Given the description of an element on the screen output the (x, y) to click on. 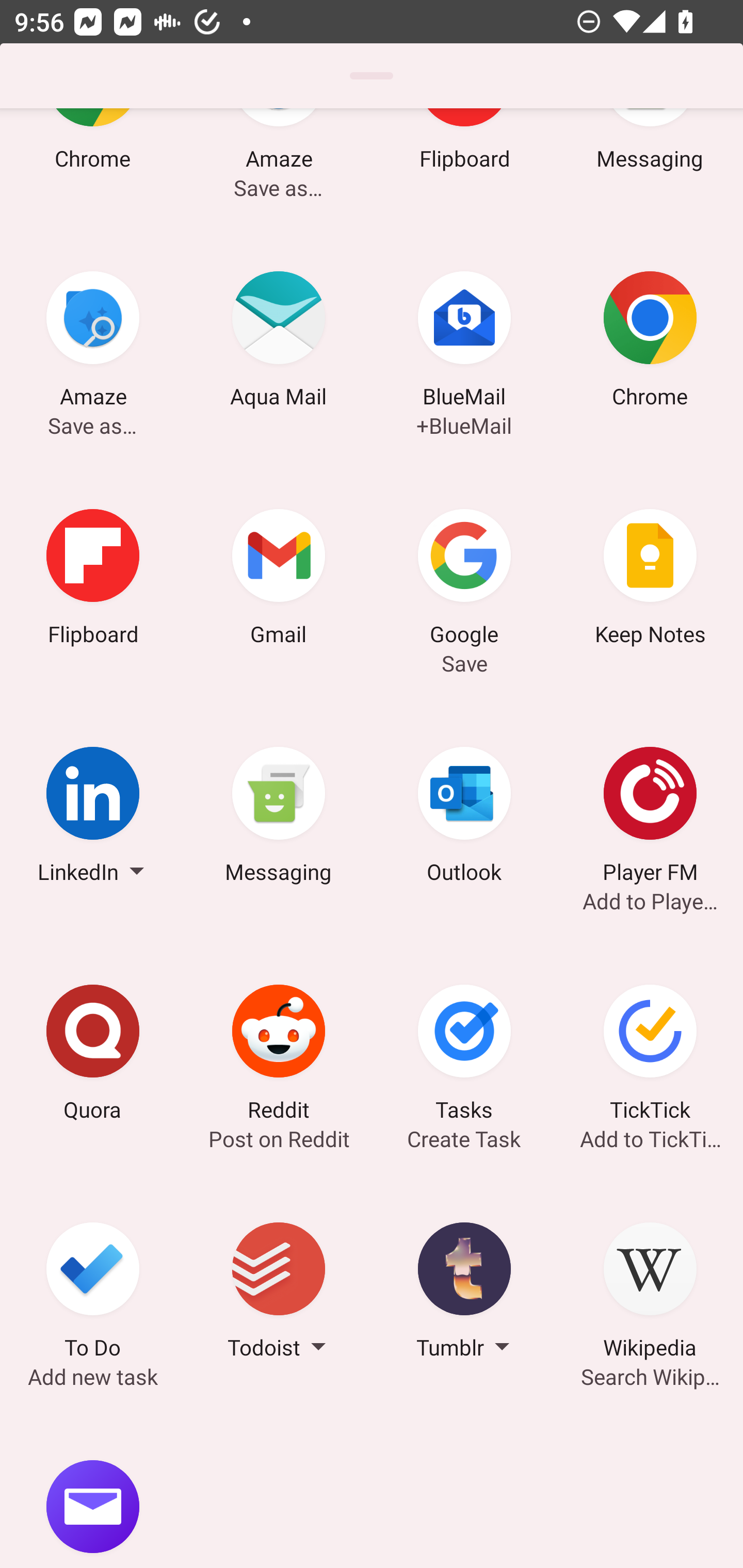
Amaze Save as… (92, 342)
Aqua Mail (278, 342)
BlueMail +BlueMail (464, 342)
Chrome (650, 342)
Flipboard (92, 579)
Gmail (278, 579)
Google Save (464, 579)
Keep Notes (650, 579)
LinkedIn (92, 818)
Messaging (278, 818)
Outlook (464, 818)
Player FM Add to Player FM (650, 818)
Quora (92, 1055)
Reddit Post on Reddit (278, 1055)
Tasks Create Task (464, 1055)
TickTick Add to TickTick (650, 1055)
To Do Add new task (92, 1293)
Todoist (278, 1293)
Tumblr (464, 1293)
Wikipedia Search Wikipedia (650, 1293)
